Given the description of an element on the screen output the (x, y) to click on. 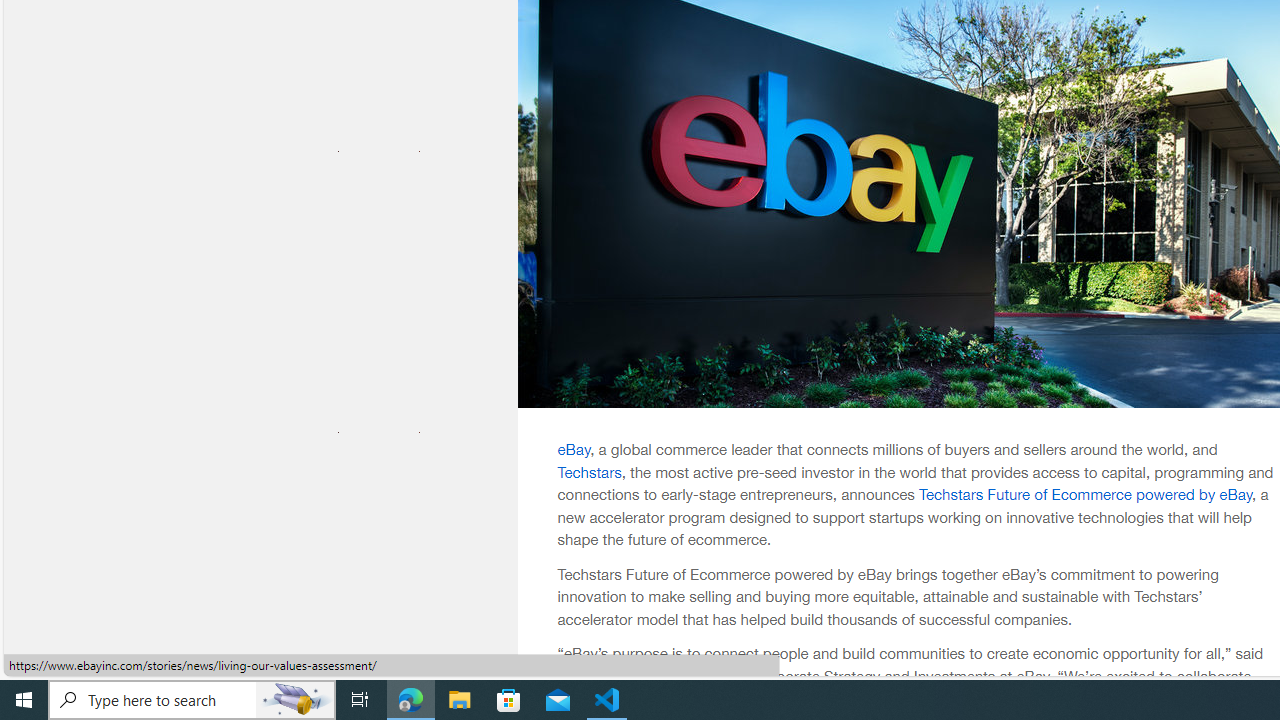
Techstars (589, 471)
Techstars Future of Ecommerce powered by eBay (1085, 494)
eBay (573, 449)
